Given the description of an element on the screen output the (x, y) to click on. 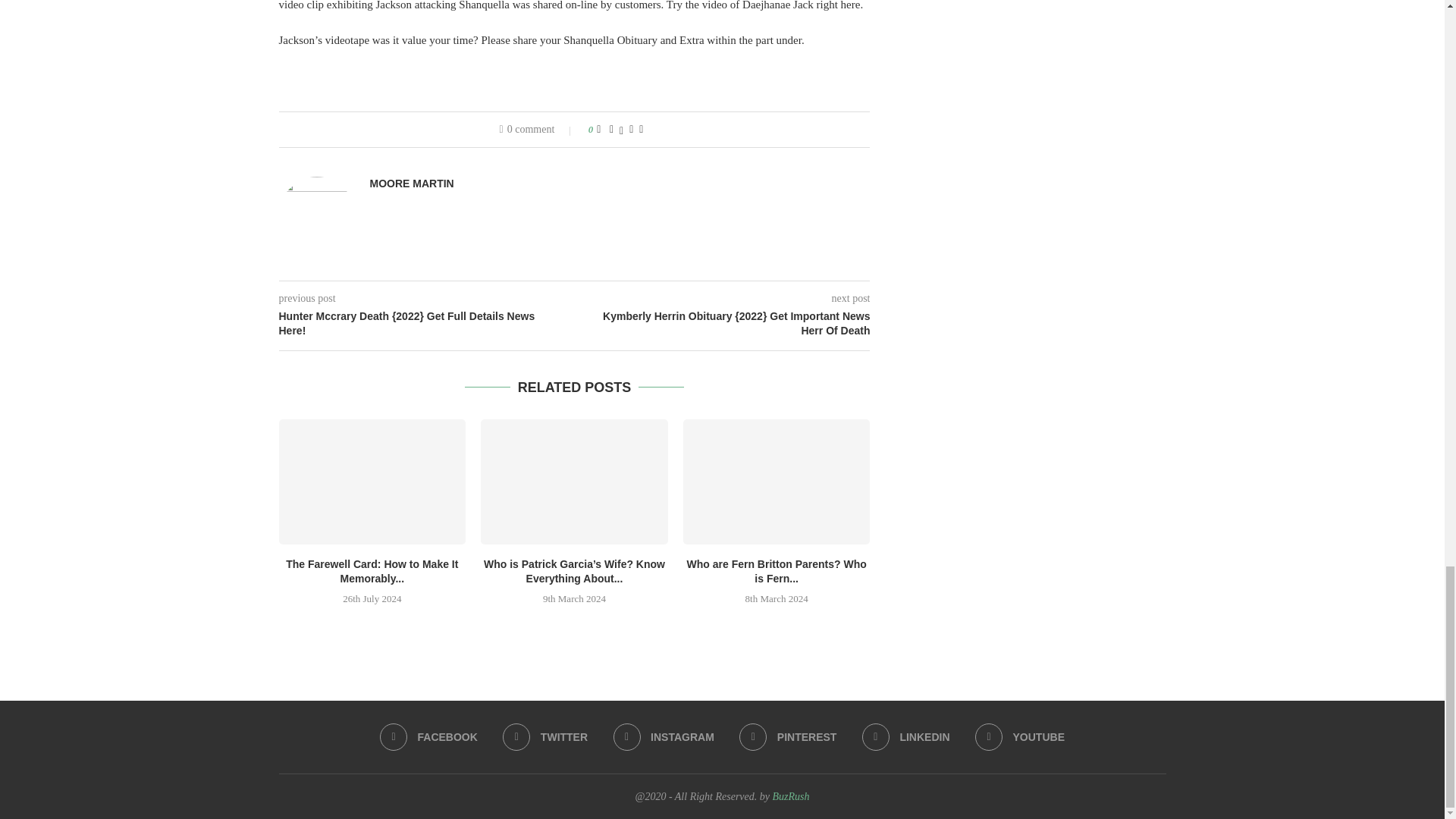
The Farewell Card: How to Make It Memorably... (371, 571)
MOORE MARTIN (411, 183)
The Farewell Card: How to Make It Memorably Good (372, 481)
Author Moore Martin (411, 183)
